Given the description of an element on the screen output the (x, y) to click on. 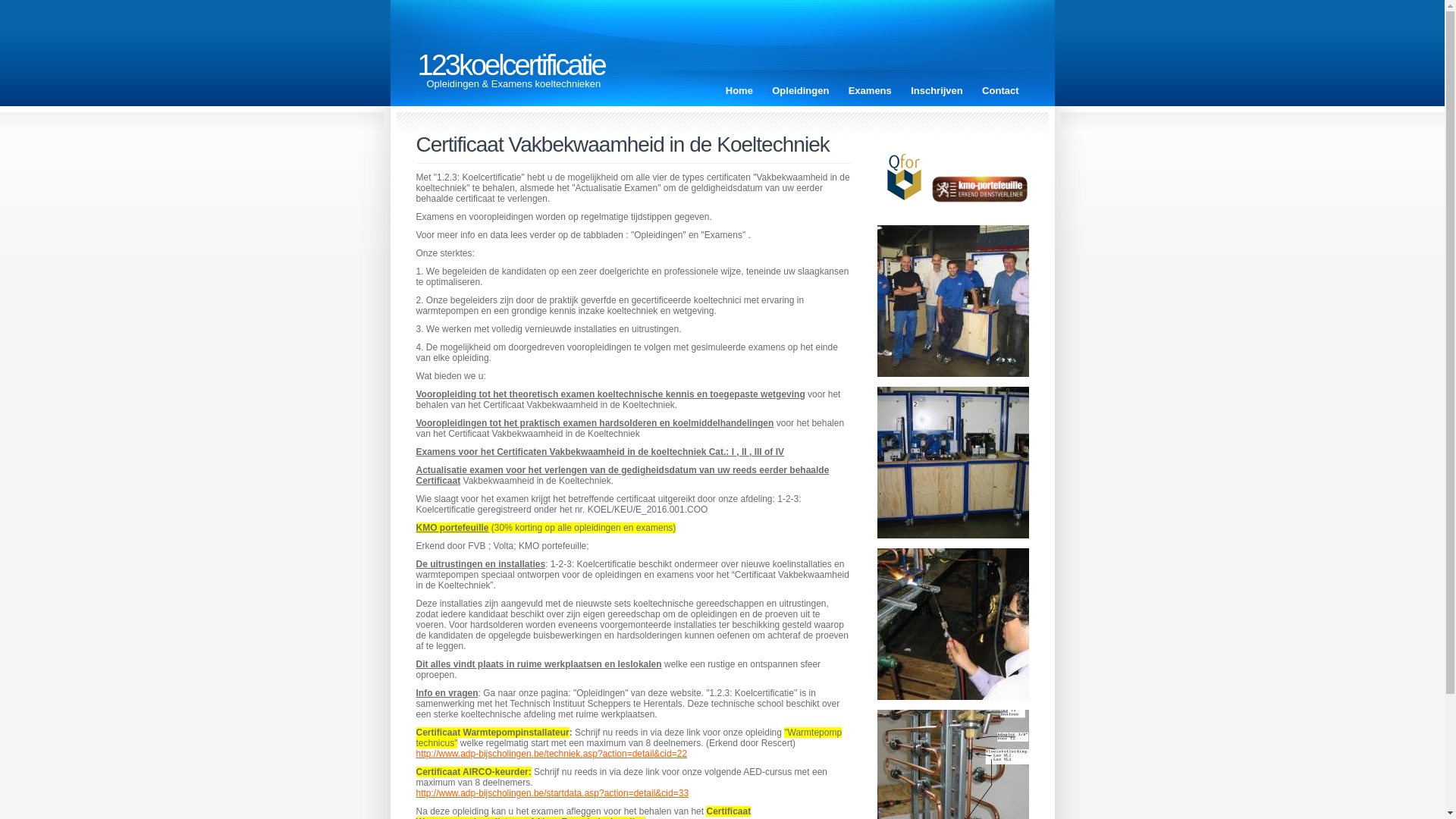
Examens Element type: text (869, 90)
Contact Element type: text (1000, 90)
Home Element type: text (739, 90)
123koelcertificatie Element type: text (510, 65)
Qfor koelcertificatie Element type: hover (902, 175)
Opleidingen Element type: text (799, 90)
Inschrijven Element type: text (936, 90)
Kmo Portefeuille koelcertificatie Element type: hover (978, 188)
